Given the description of an element on the screen output the (x, y) to click on. 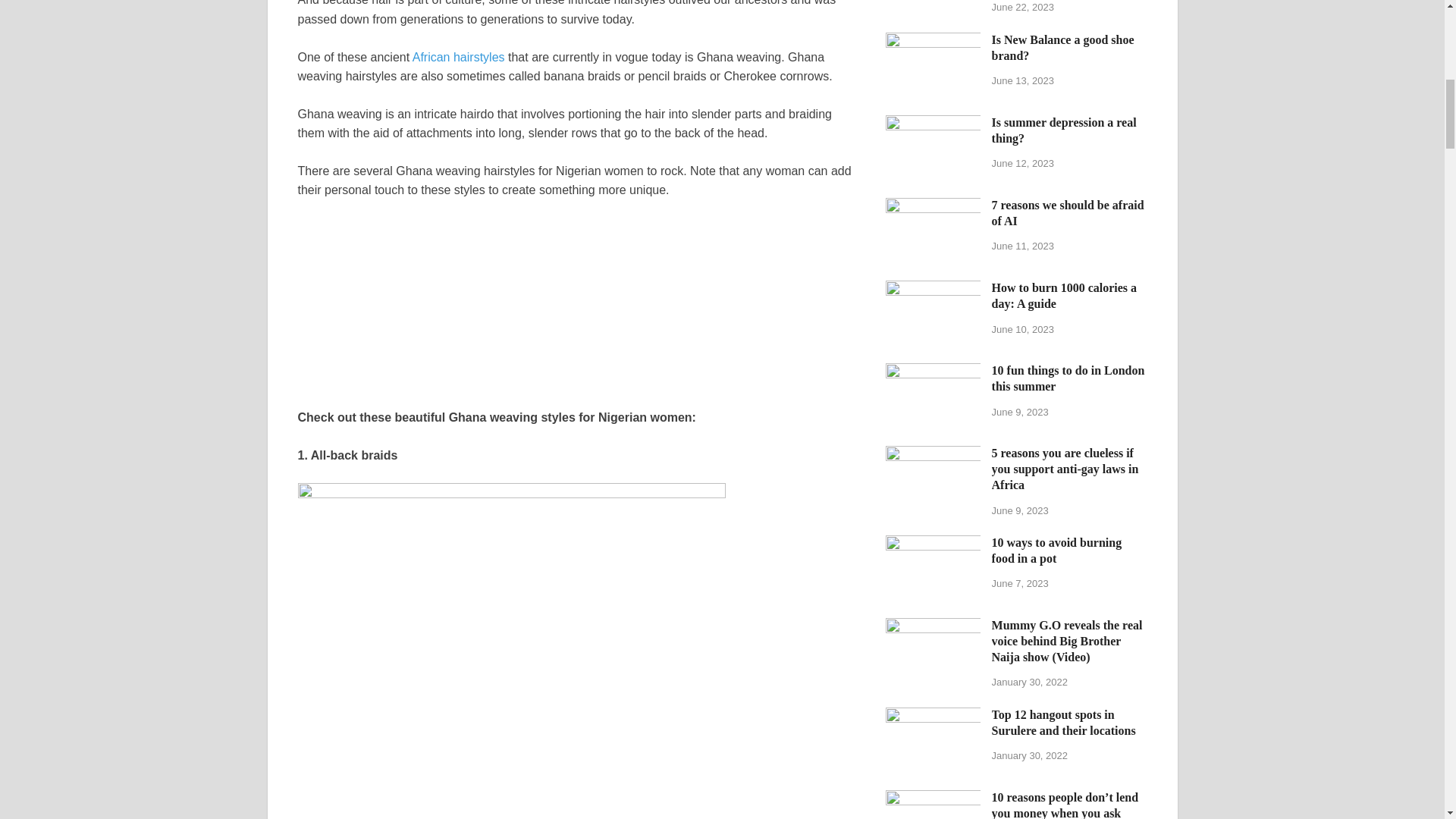
African hairstyles (458, 56)
